Given the description of an element on the screen output the (x, y) to click on. 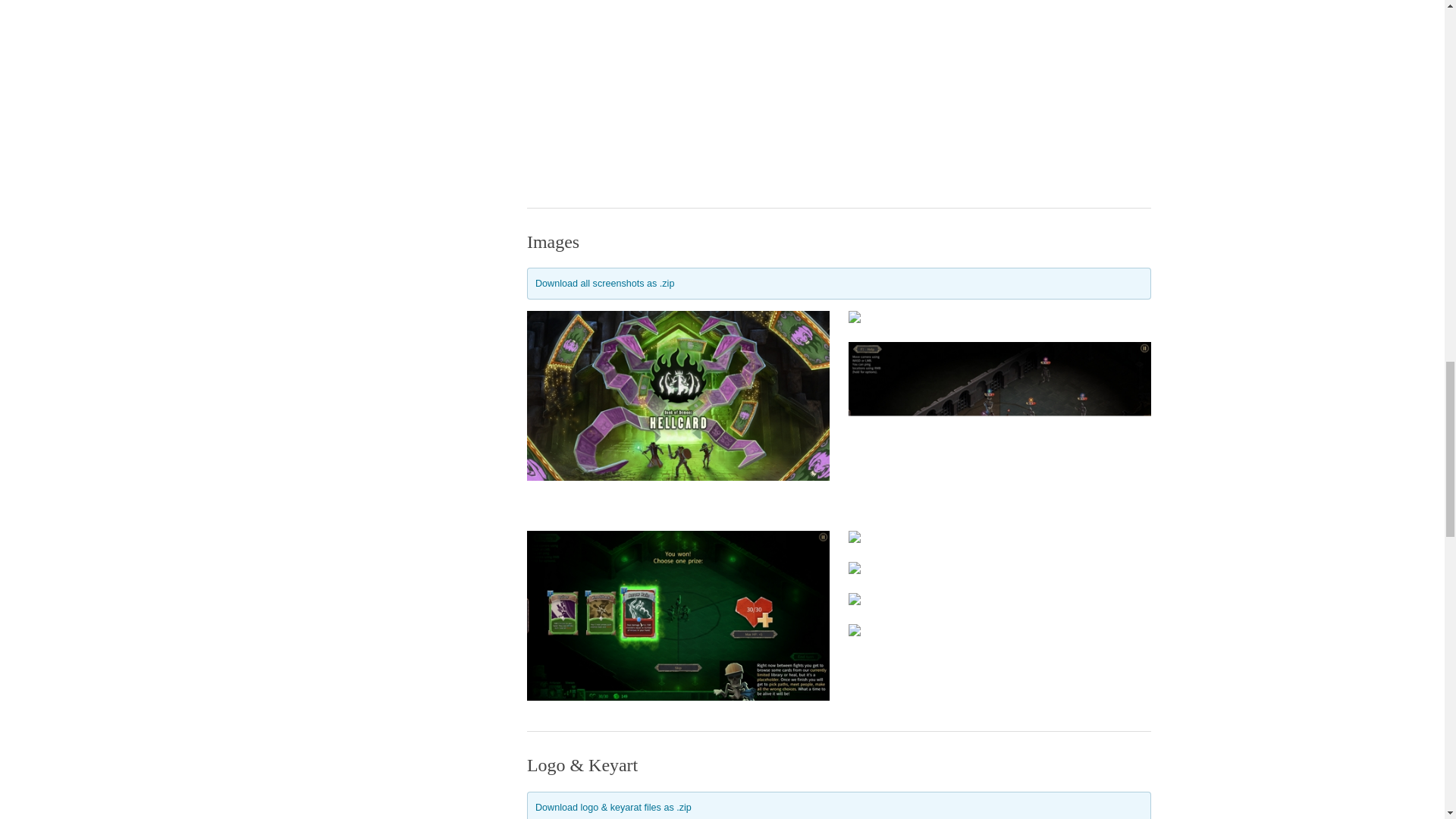
Download all screenshots as .zip (604, 283)
